Given the description of an element on the screen output the (x, y) to click on. 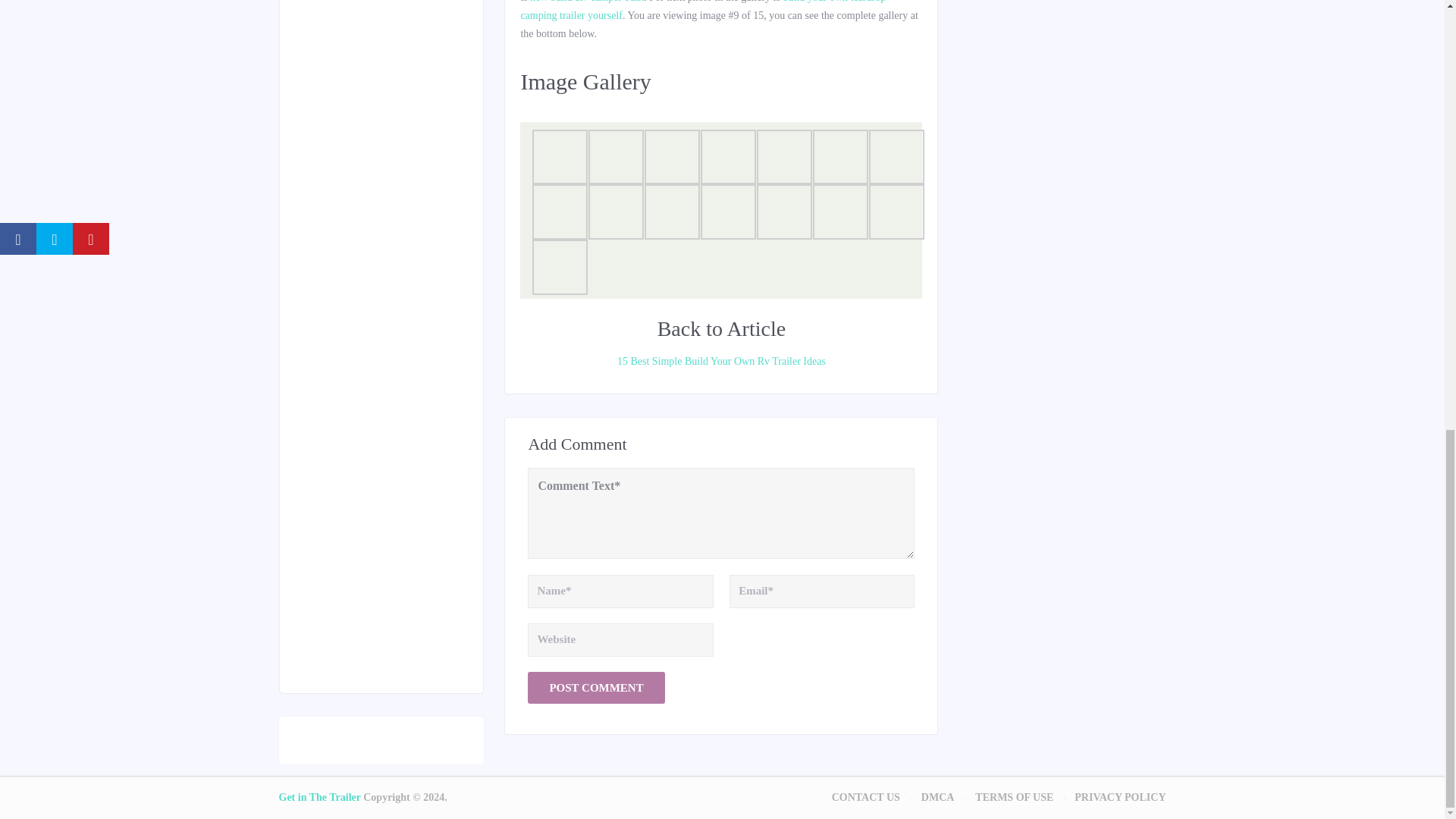
Post Comment (595, 687)
15 Best Simple Build Your Own Rv Trailer Ideas (720, 361)
Post Comment (595, 687)
new build atv camper built (586, 1)
build your own teardrop camping trailer yourself (702, 10)
